Given the description of an element on the screen output the (x, y) to click on. 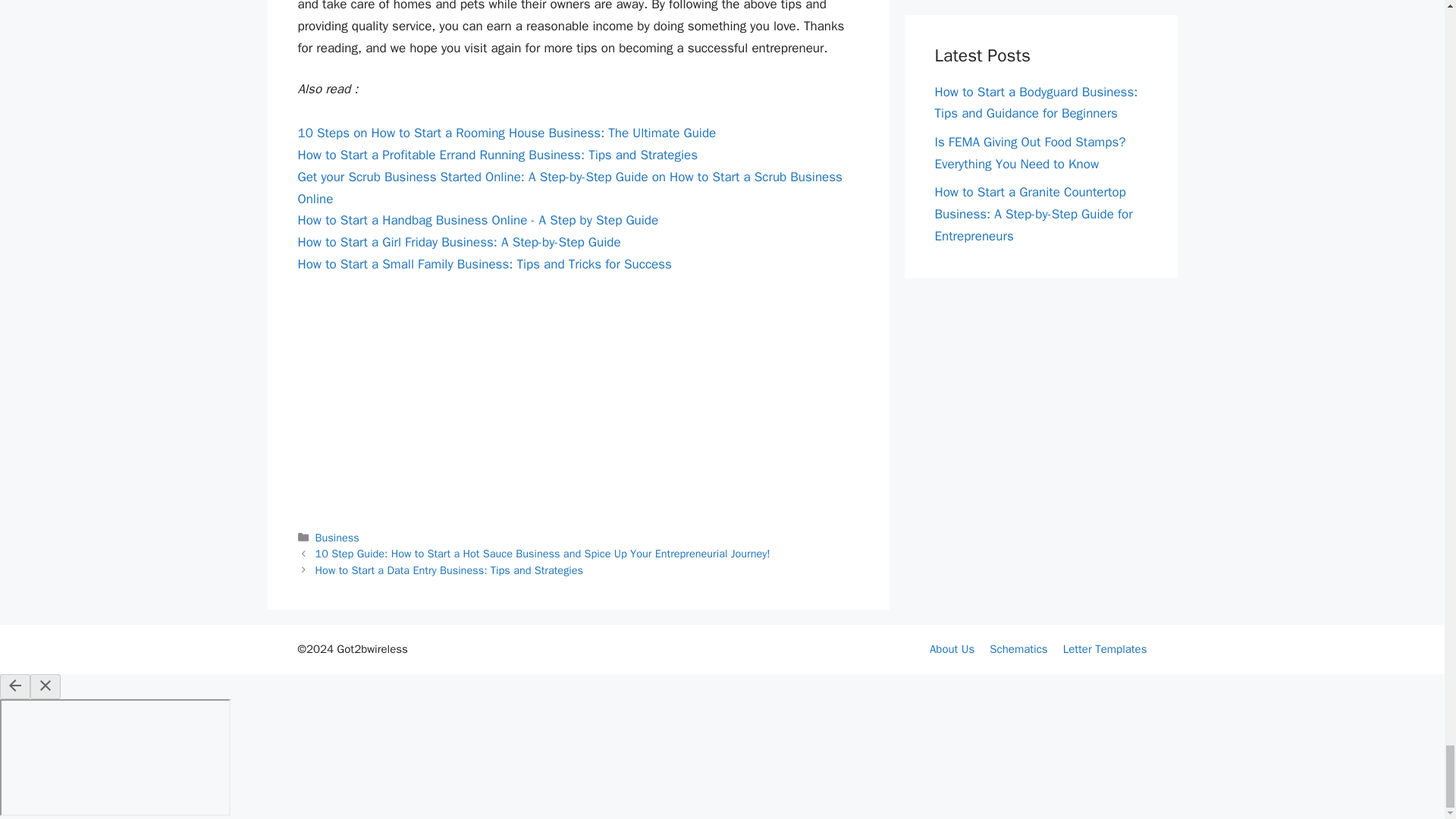
About Us (952, 649)
Business (337, 537)
How to Start a Data Entry Business: Tips and Strategies (449, 570)
Letter Templates (1104, 649)
Schematics (1018, 649)
